Given the description of an element on the screen output the (x, y) to click on. 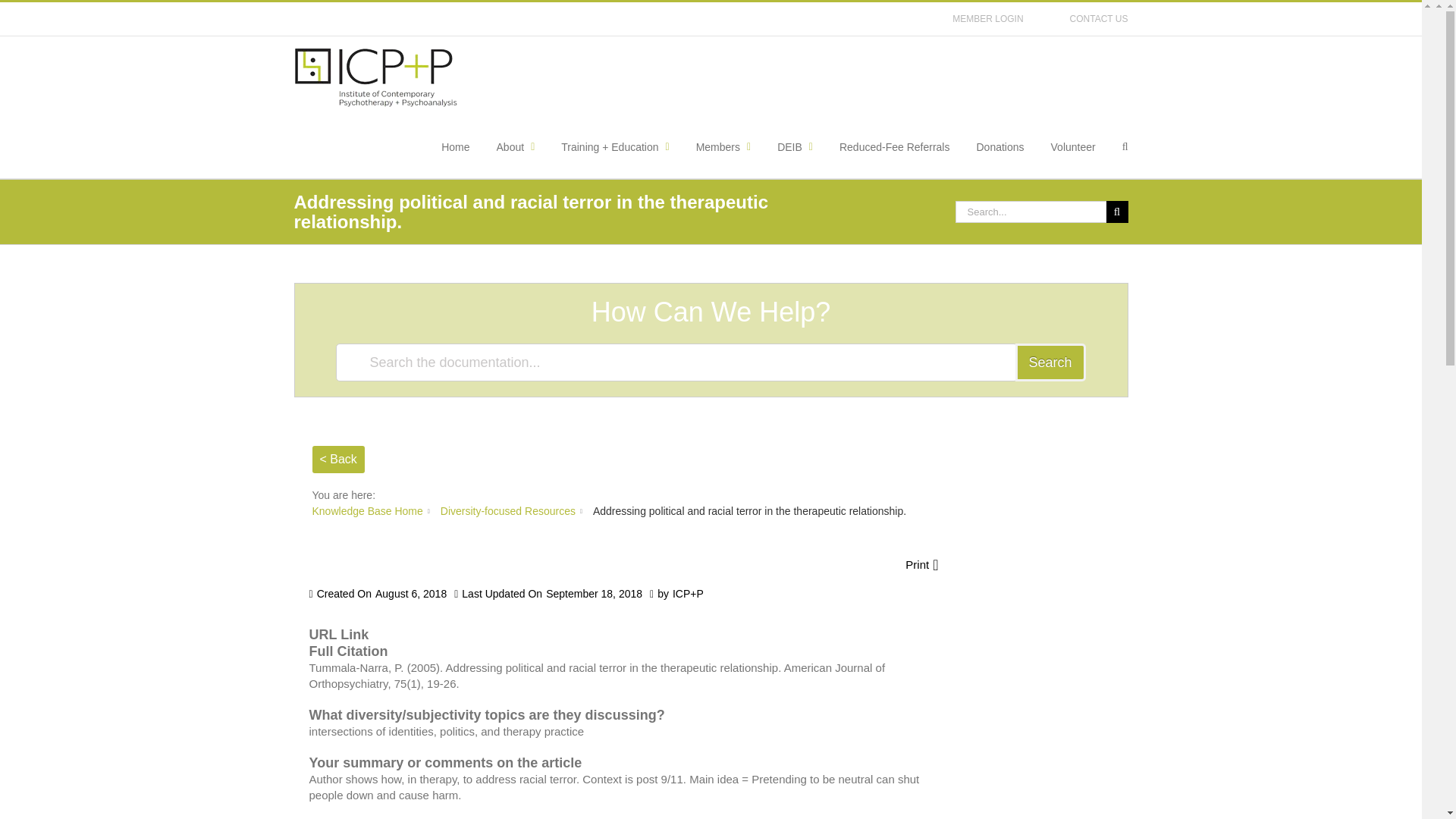
CONTACT US (1099, 19)
Reduced-Fee Referrals (895, 146)
MEMBER LOGIN (987, 19)
